Given the description of an element on the screen output the (x, y) to click on. 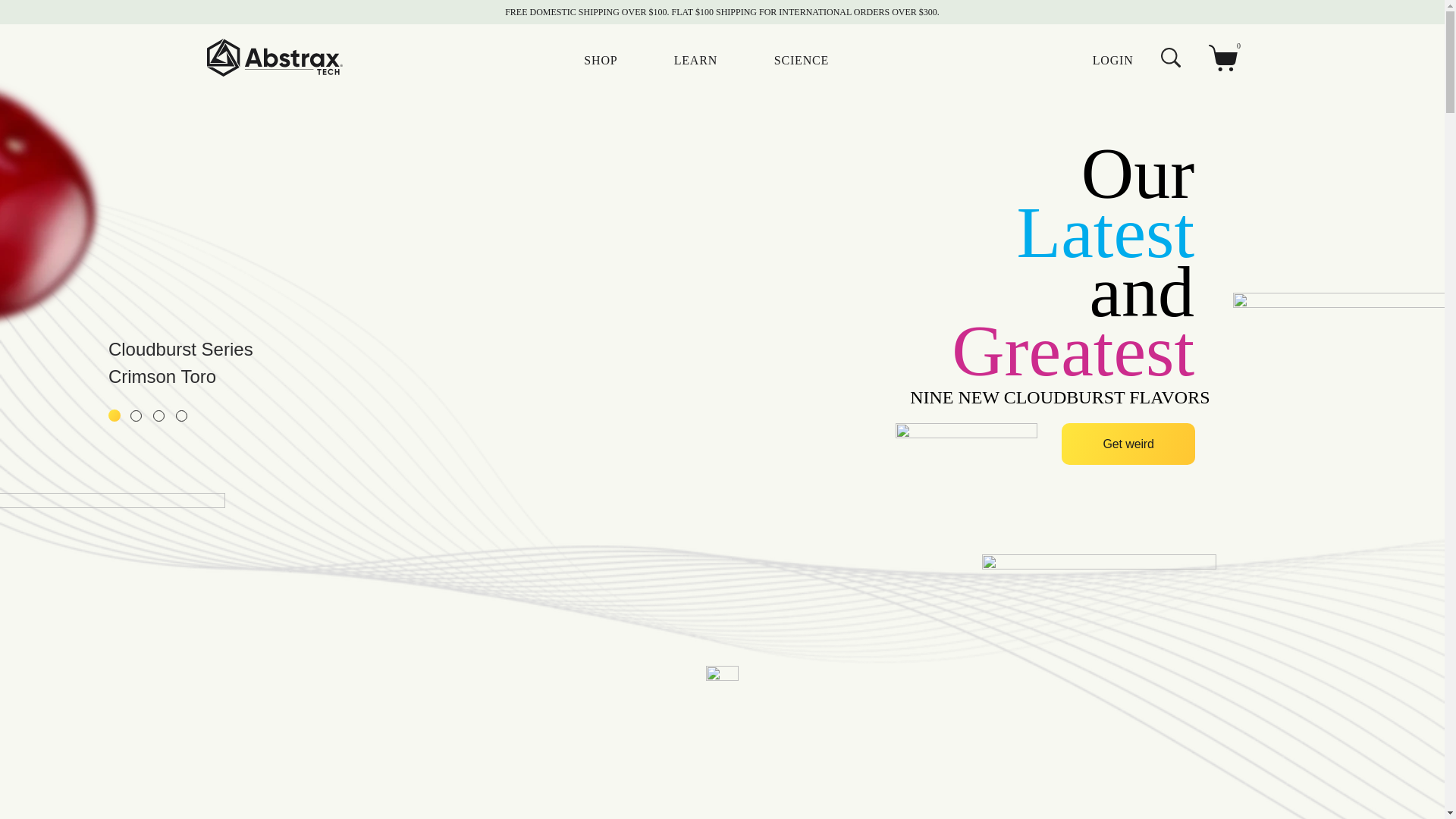
Submenu of Learn (728, 62)
Submenu of Shop (628, 62)
LEARN (695, 60)
SHOP (600, 60)
